Given the description of an element on the screen output the (x, y) to click on. 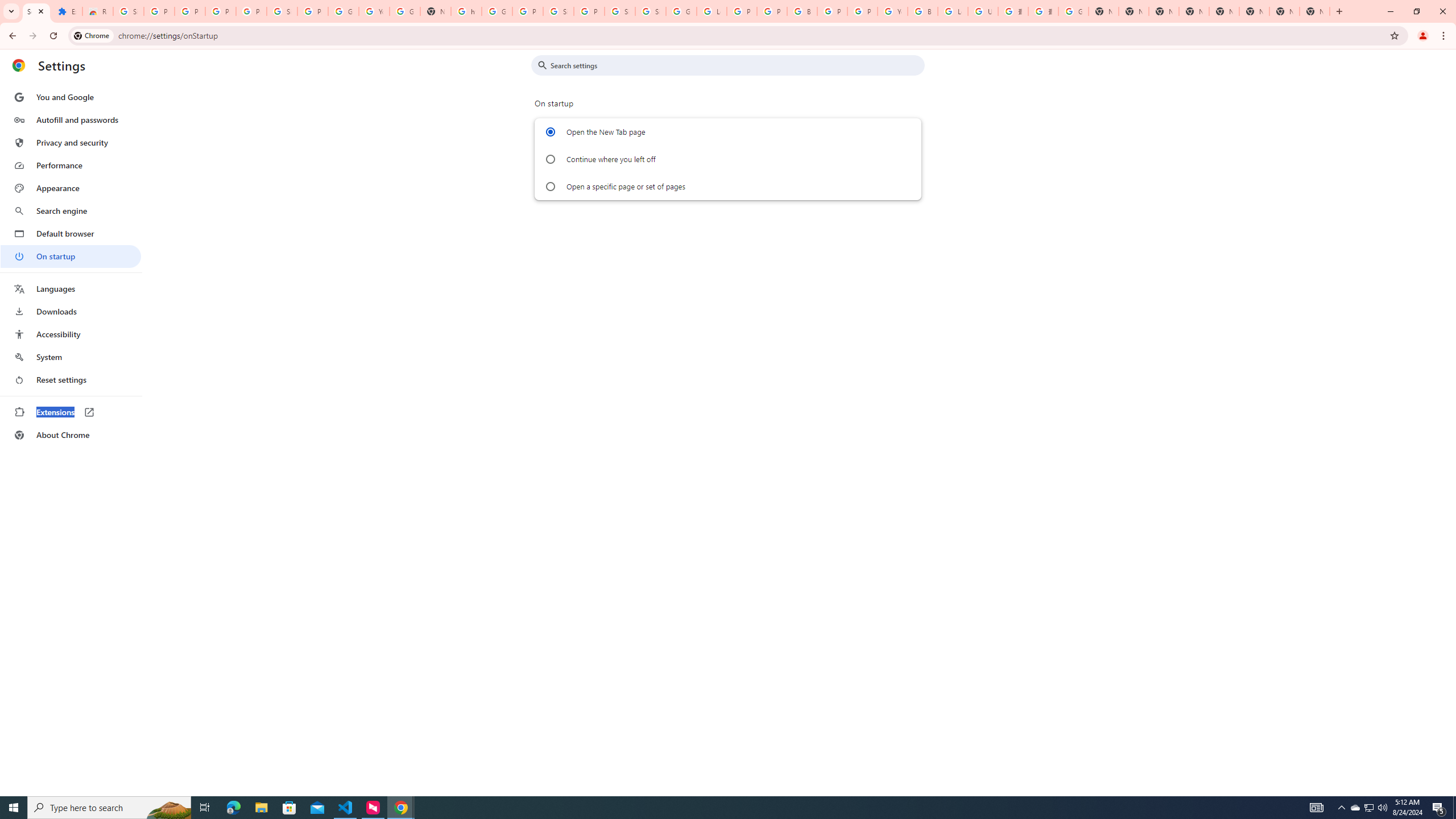
https://scholar.google.com/ (465, 11)
Sign in - Google Accounts (558, 11)
New Tab (1314, 11)
About Chrome (70, 434)
Sign in - Google Accounts (282, 11)
Google Images (1072, 11)
